Given the description of an element on the screen output the (x, y) to click on. 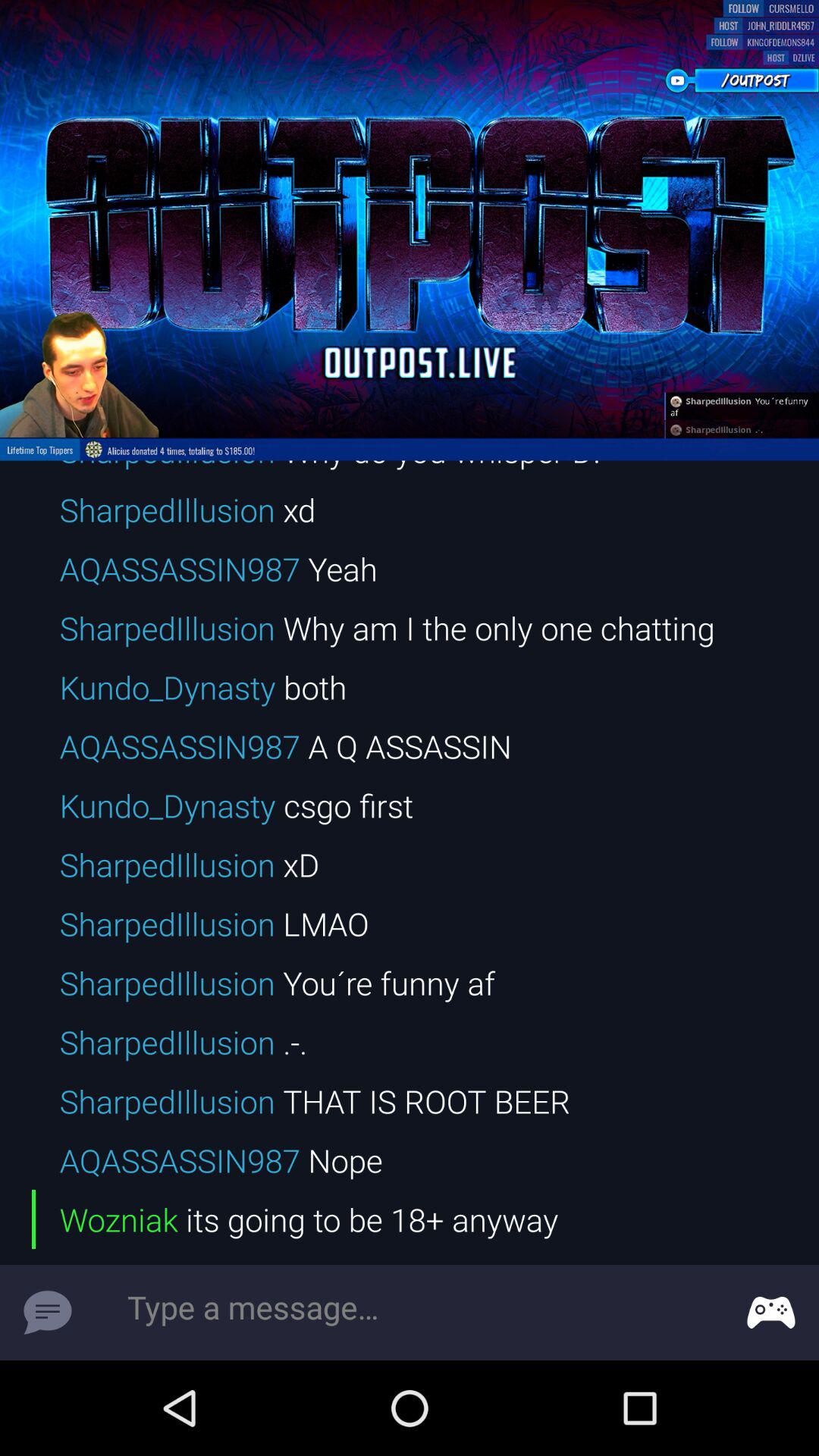
videogame (771, 1312)
